Given the description of an element on the screen output the (x, y) to click on. 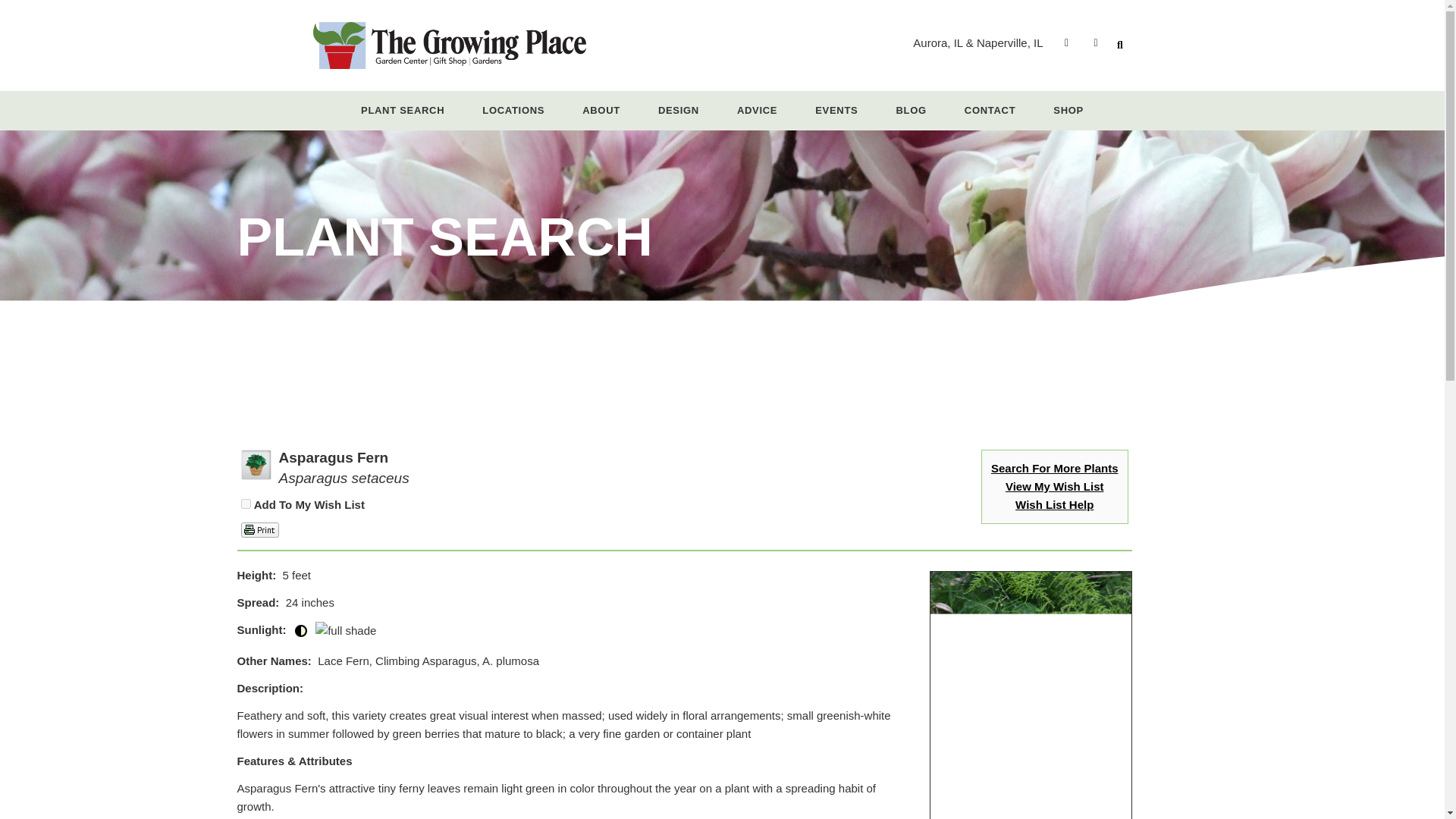
full shade (345, 630)
CONTACT (989, 110)
EVENTS (835, 110)
ADVICE (757, 110)
ABOUT (600, 110)
SHOP (1068, 110)
DESIGN (678, 110)
PLANT SEARCH (403, 110)
BLOG (910, 110)
print page (260, 529)
